Given the description of an element on the screen output the (x, y) to click on. 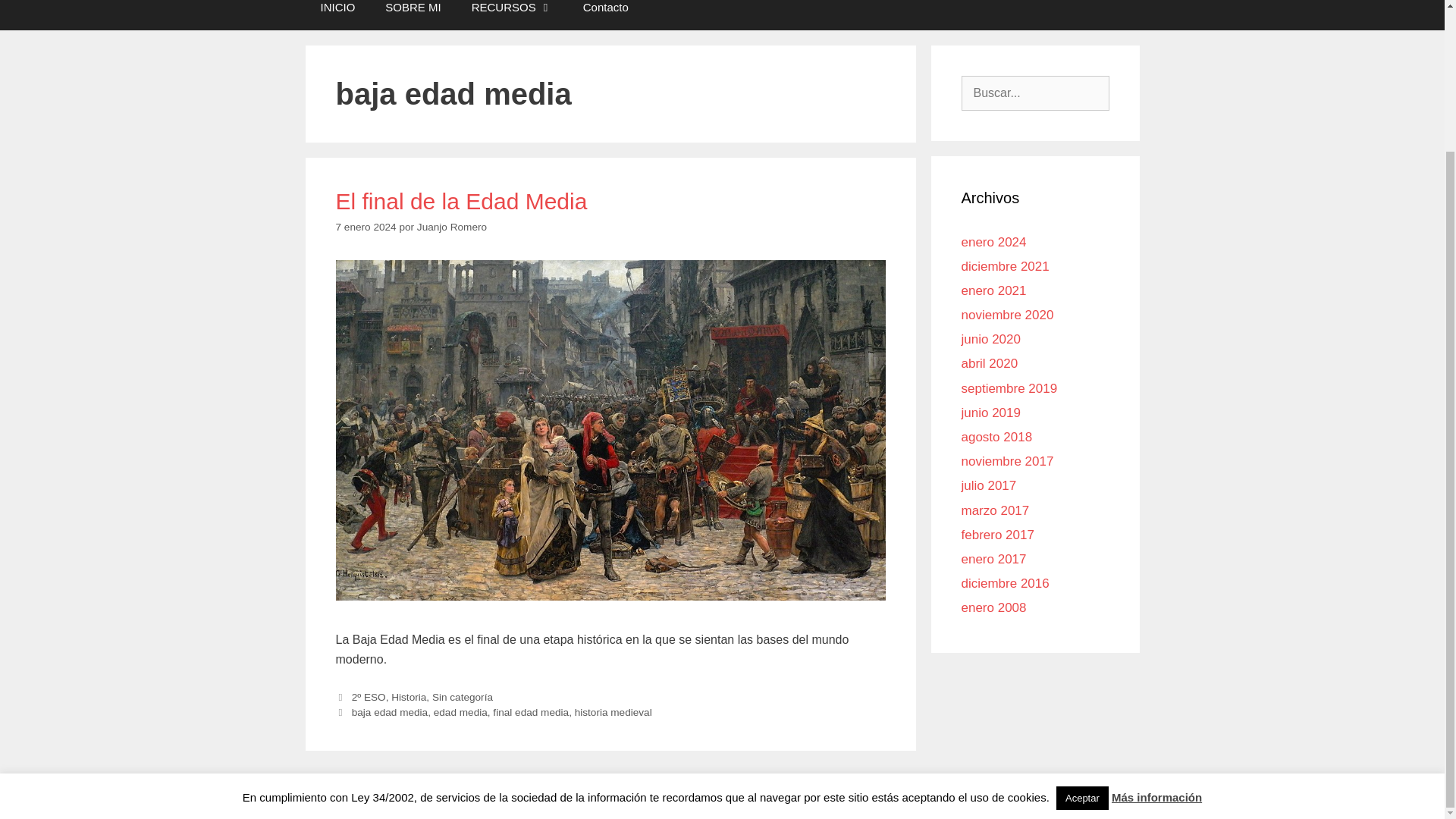
final edad media (531, 712)
Historia (408, 696)
Juanjo Romero (451, 226)
septiembre 2019 (1009, 388)
junio 2019 (990, 412)
noviembre 2020 (1007, 314)
Contacto (605, 14)
junio 2020 (990, 339)
RECURSOS (512, 14)
enero 2021 (993, 290)
historia medieval (613, 712)
diciembre 2021 (1004, 266)
edad media (460, 712)
noviembre 2017 (1007, 461)
El final de la Edad Media (460, 201)
